Given the description of an element on the screen output the (x, y) to click on. 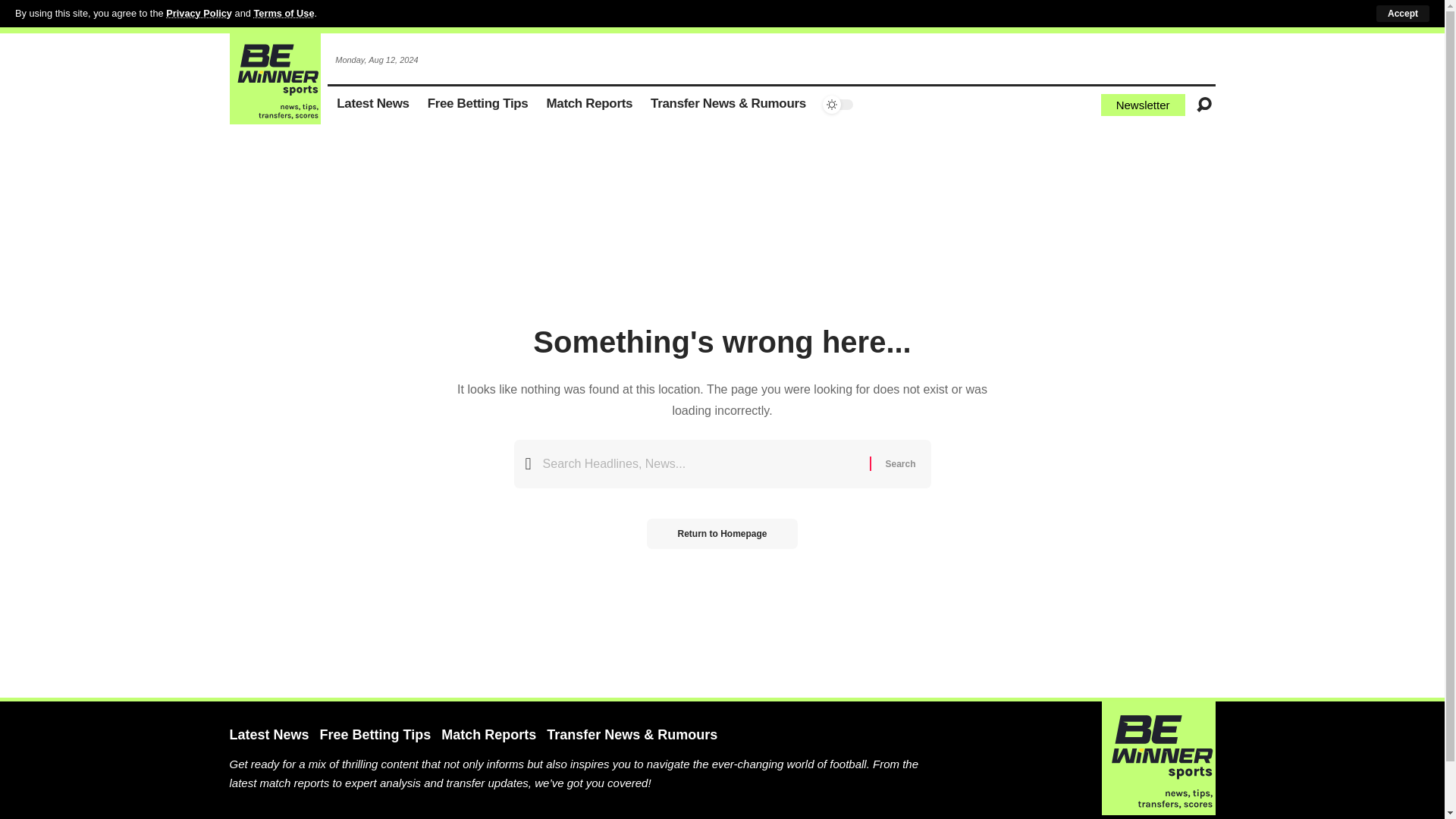
Privacy Policy (198, 12)
Accept (1402, 13)
Terms of Use (283, 12)
Newsletter (1142, 105)
Search (899, 463)
Free Betting Tips (478, 104)
Latest News (372, 104)
Match Reports (589, 104)
